Given the description of an element on the screen output the (x, y) to click on. 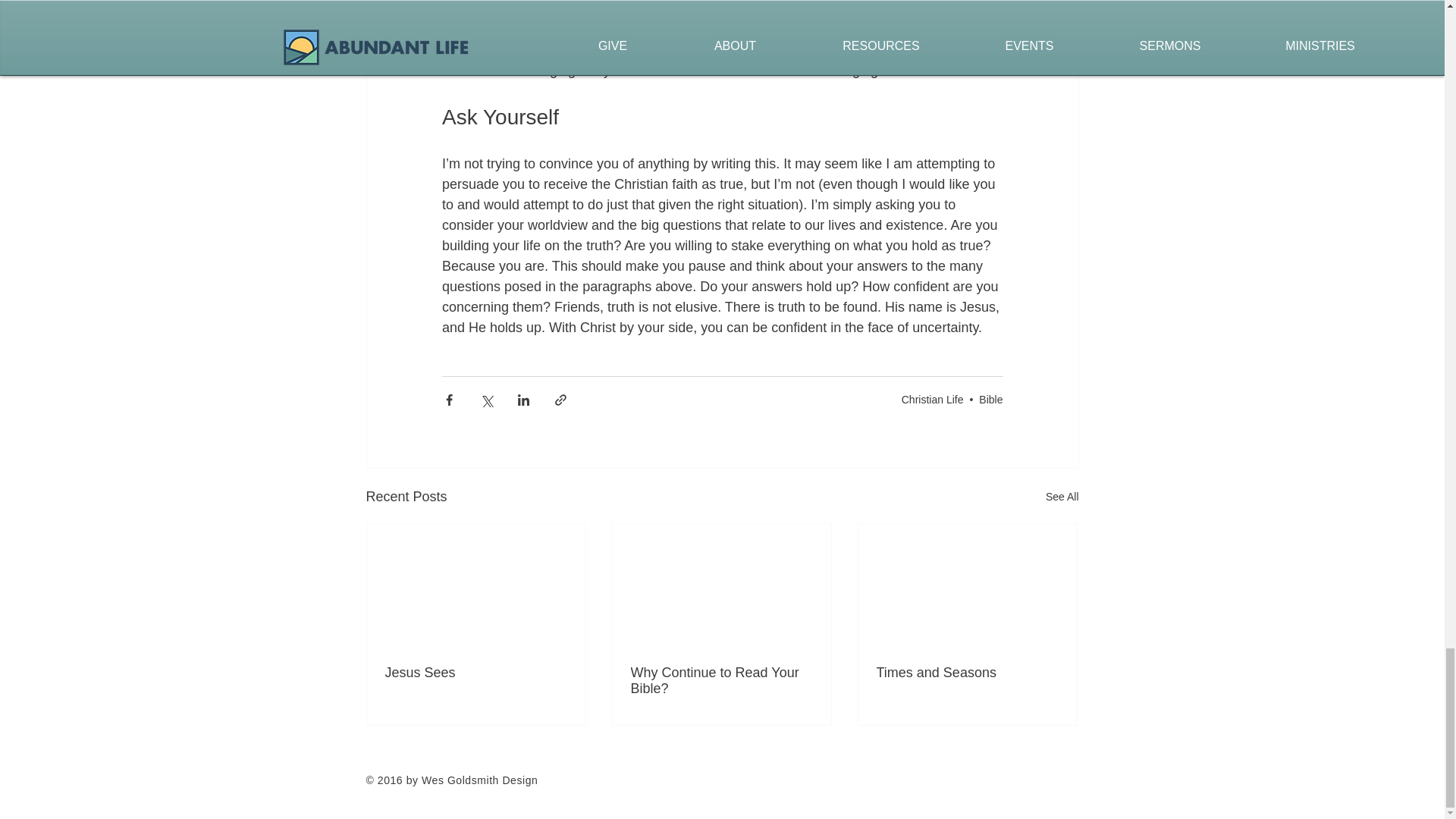
Christian Life (932, 399)
Bible (990, 399)
Jesus Sees (476, 672)
See All (1061, 496)
Why Continue to Read Your Bible? (721, 680)
